Given the description of an element on the screen output the (x, y) to click on. 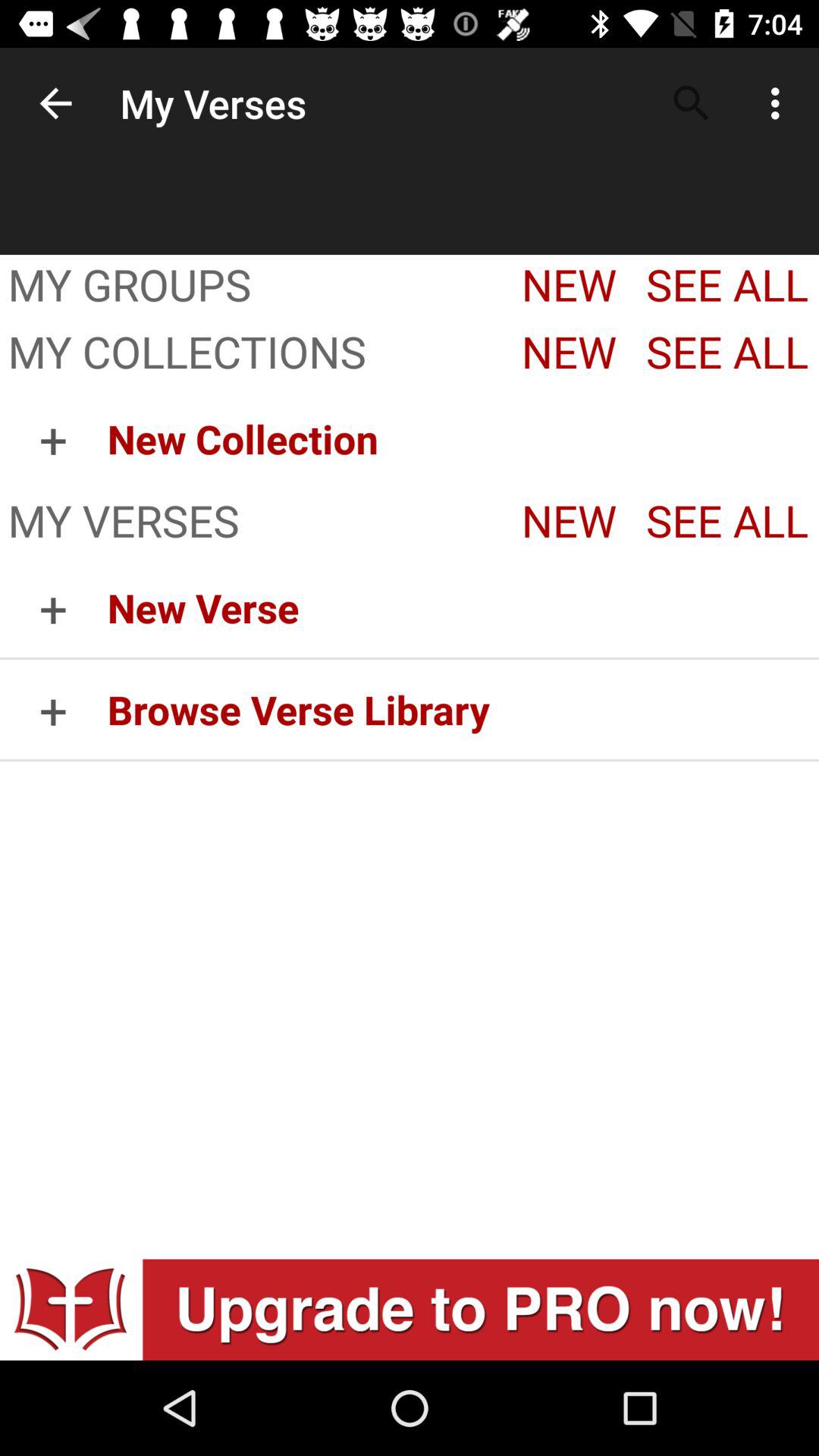
select the icon next to + icon (463, 607)
